Given the description of an element on the screen output the (x, y) to click on. 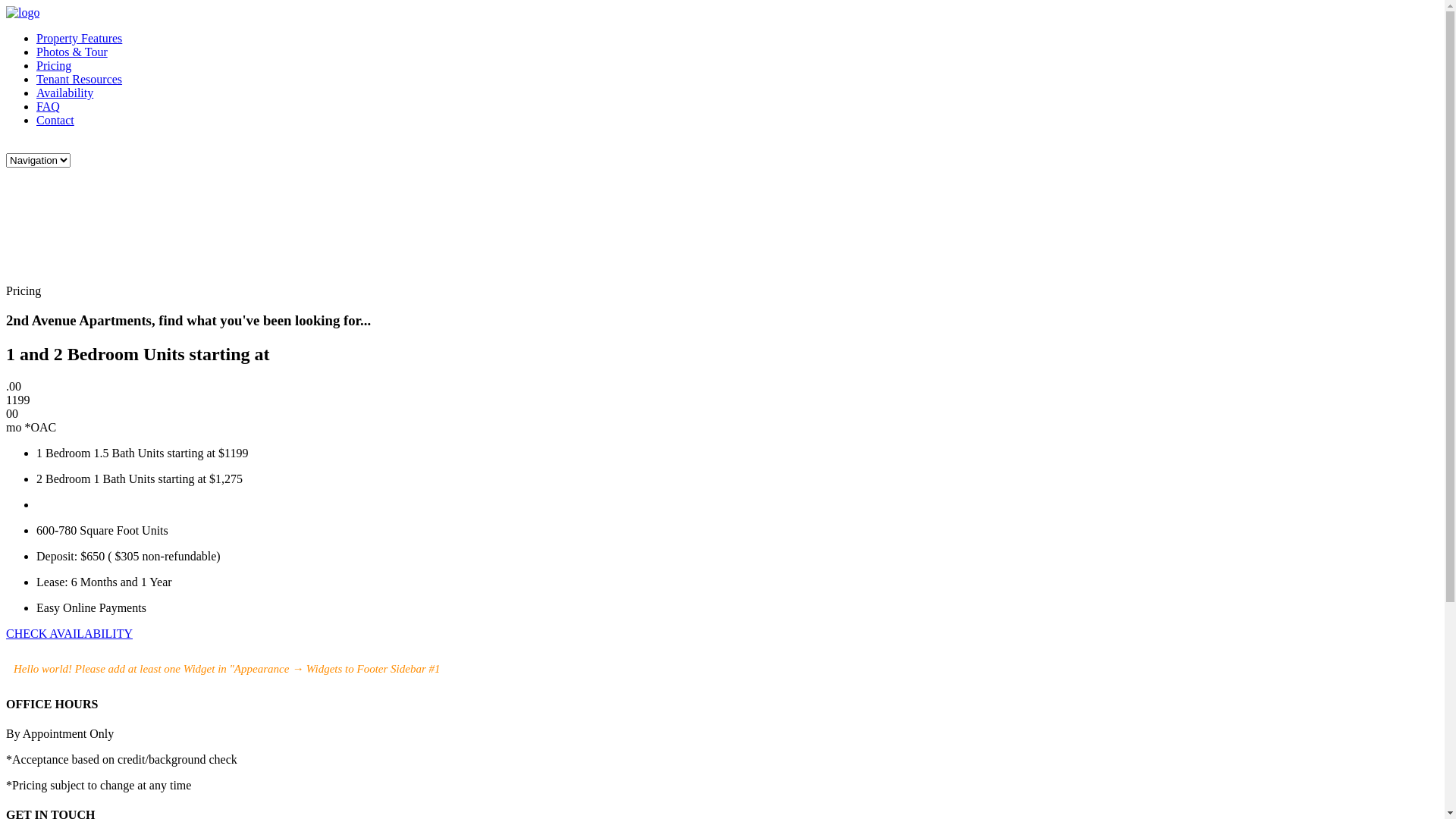
Contact Element type: text (55, 119)
Property Features Element type: text (79, 37)
Photos & Tour Element type: text (71, 51)
Availability Element type: text (64, 92)
CHECK AVAILABILITY Element type: text (69, 633)
Pricing Element type: text (53, 65)
FAQ Element type: text (47, 106)
Tenant Resources Element type: text (79, 78)
